Given the description of an element on the screen output the (x, y) to click on. 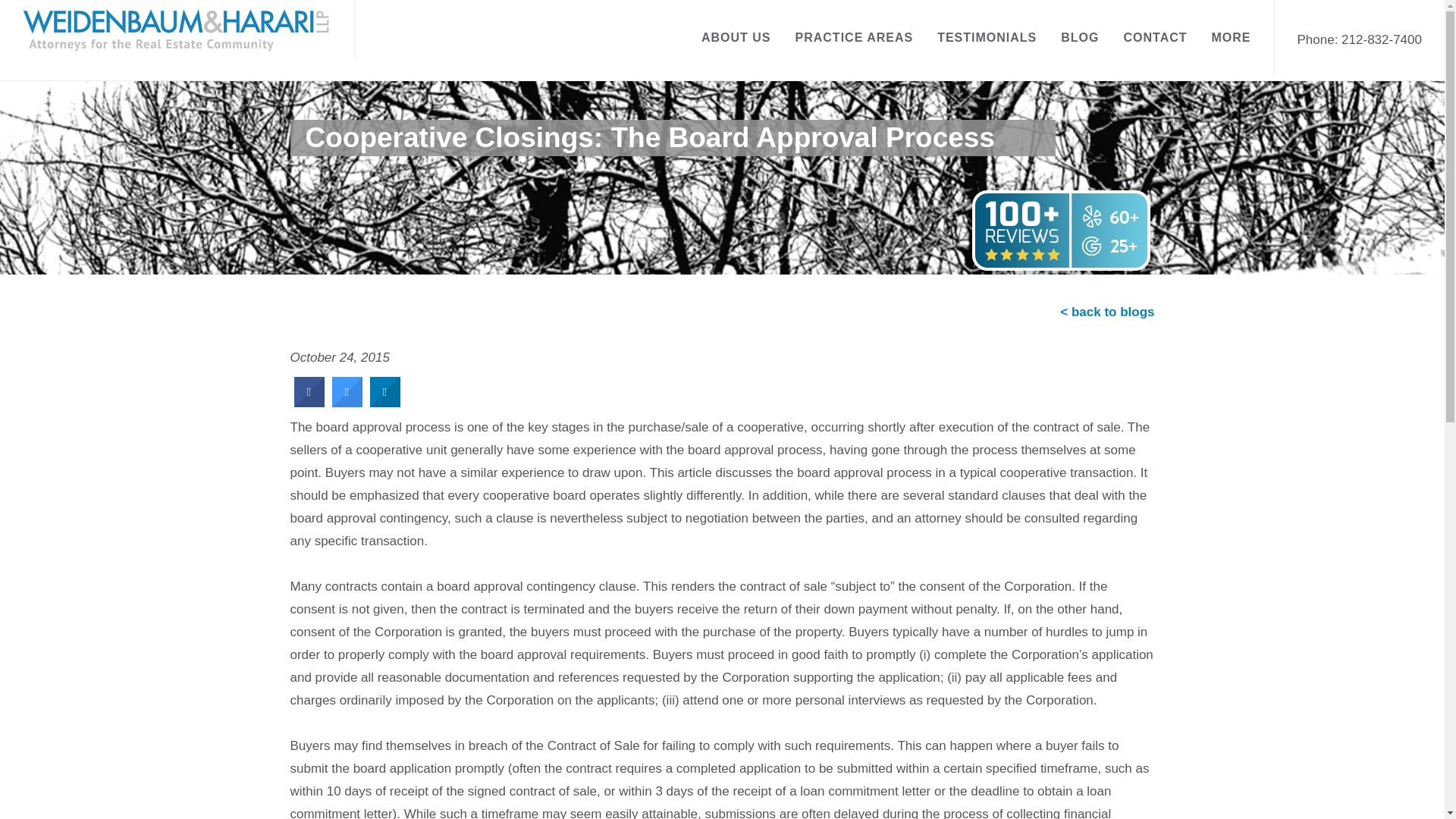
CONTACT (1155, 38)
PRACTICE AREAS (854, 38)
Share to LinkedIn (384, 401)
Share on Facebook (309, 401)
Share on Twitter (346, 401)
ABOUT US (736, 38)
TESTIMONIALS (987, 38)
